Given the description of an element on the screen output the (x, y) to click on. 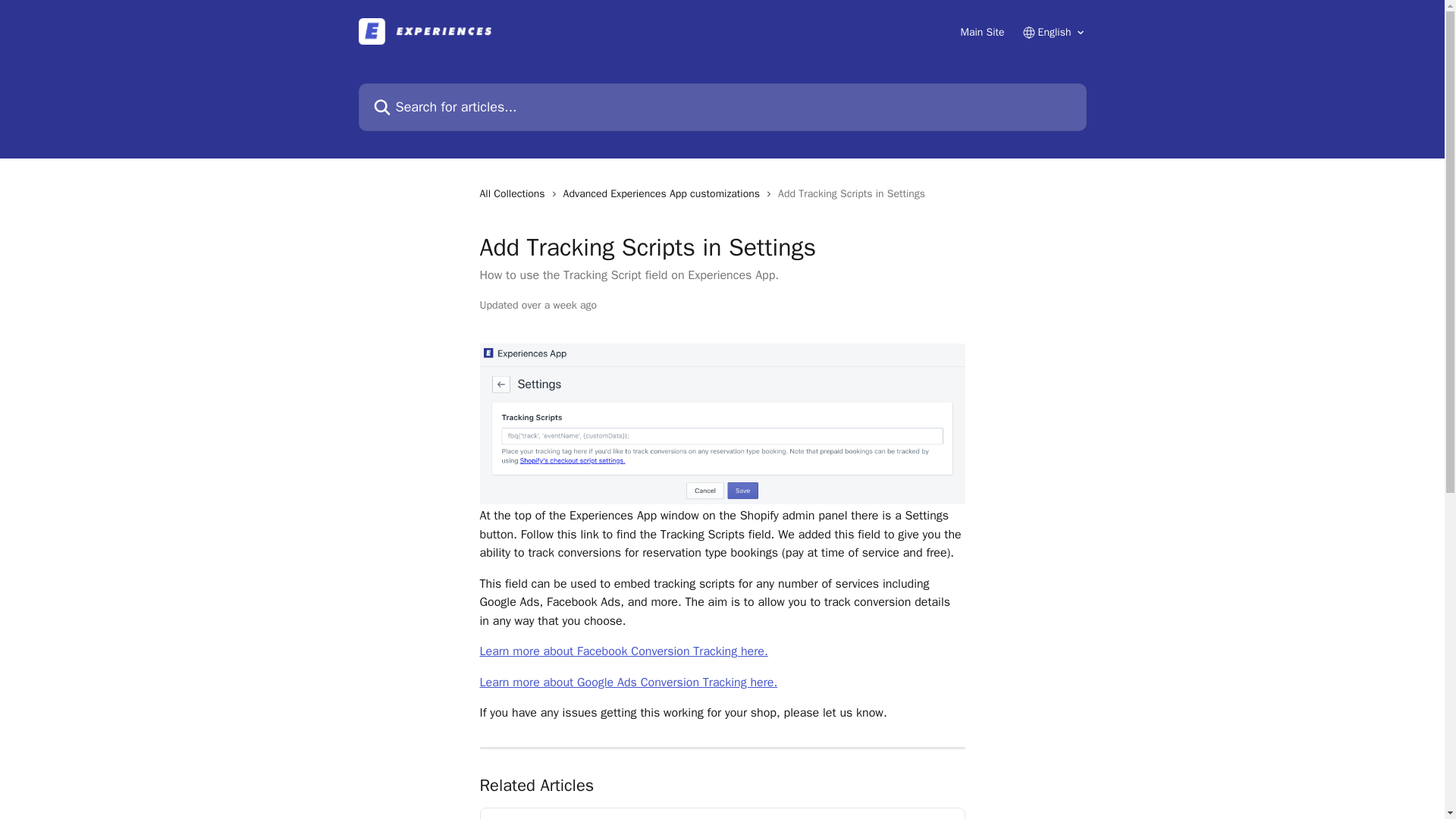
Main Site (981, 32)
Learn more about Facebook Conversion Tracking here. (623, 651)
Learn more about Google Ads Conversion Tracking here. (628, 682)
All Collections (514, 193)
Advanced Experiences App customizations (664, 193)
